Given the description of an element on the screen output the (x, y) to click on. 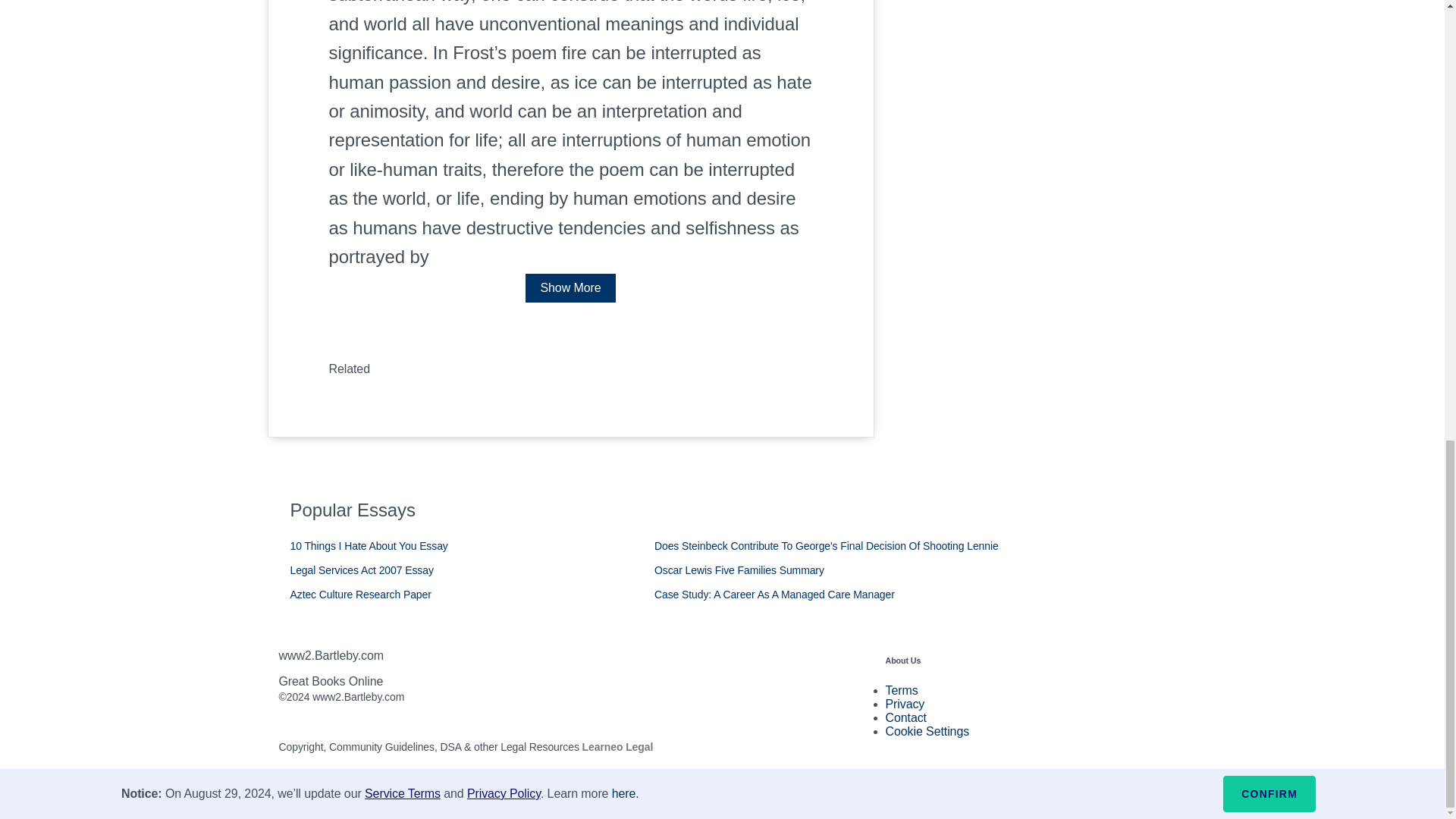
Legal Services Act 2007 Essay (360, 570)
10 Things I Hate About You Essay (367, 545)
Oscar Lewis Five Families Summary (738, 570)
Case Study: A Career As A Managed Care Manager (774, 594)
Privacy (904, 703)
Oscar Lewis Five Families Summary (738, 570)
Aztec Culture Research Paper (359, 594)
10 Things I Hate About You Essay (367, 545)
Case Study: A Career As A Managed Care Manager (774, 594)
Contact (905, 717)
Aztec Culture Research Paper (359, 594)
Cookie Settings (927, 730)
Show More (569, 287)
